Given the description of an element on the screen output the (x, y) to click on. 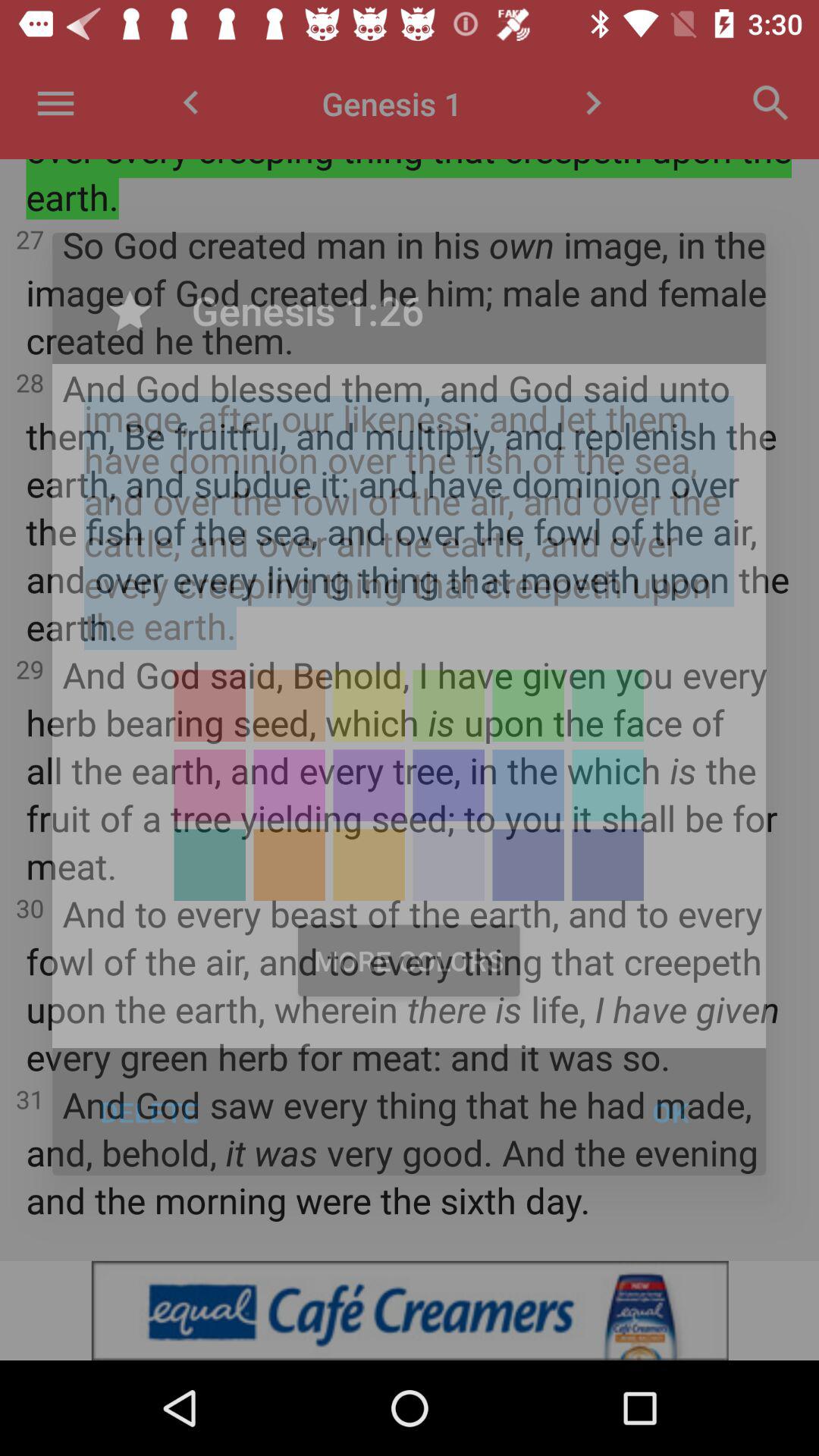
click on the arrow which is towards left and is on the left side of genesis 1 (191, 103)
click on genesis 1 (391, 103)
